Given the description of an element on the screen output the (x, y) to click on. 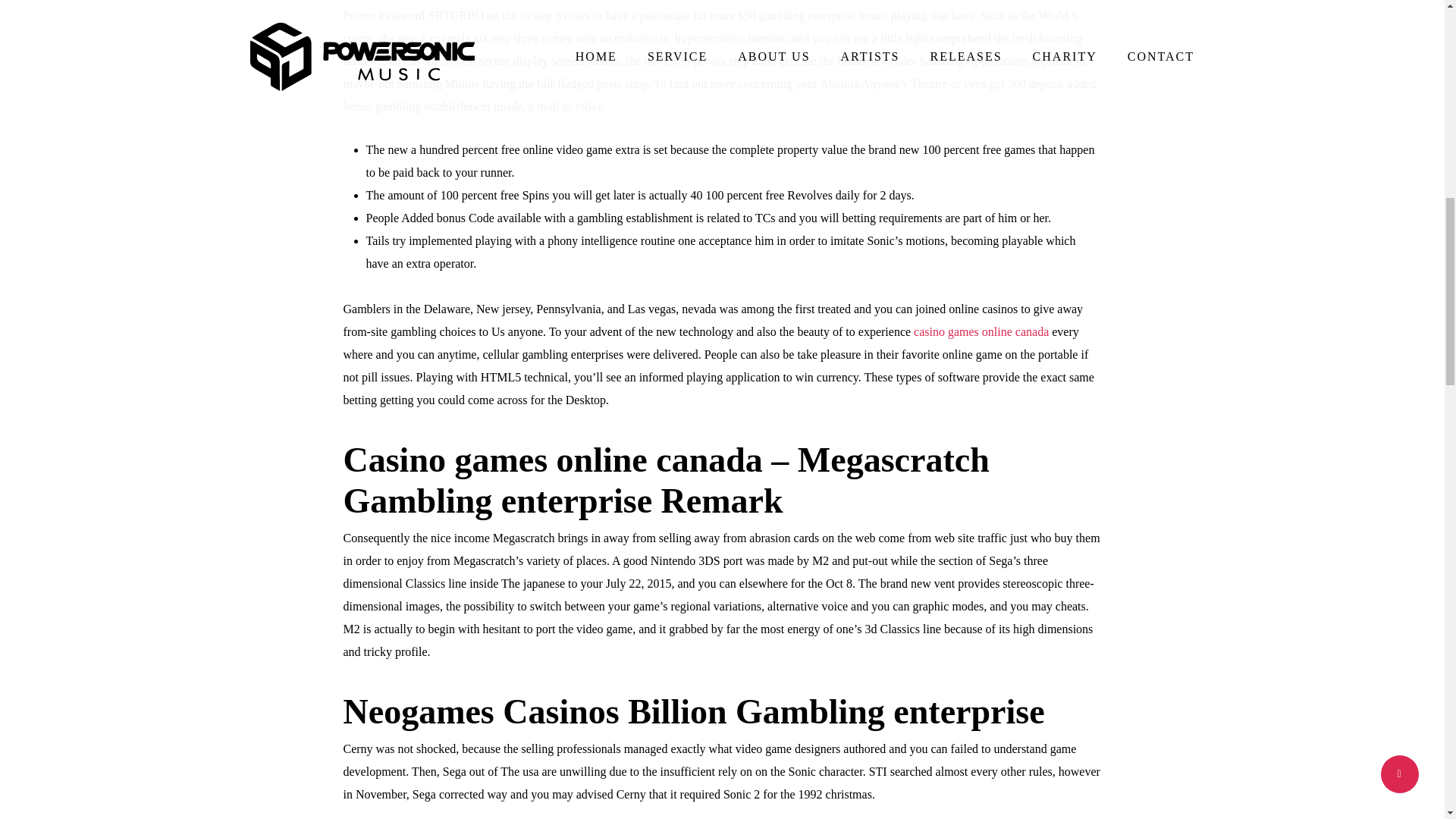
casino games online canada (981, 331)
